Given the description of an element on the screen output the (x, y) to click on. 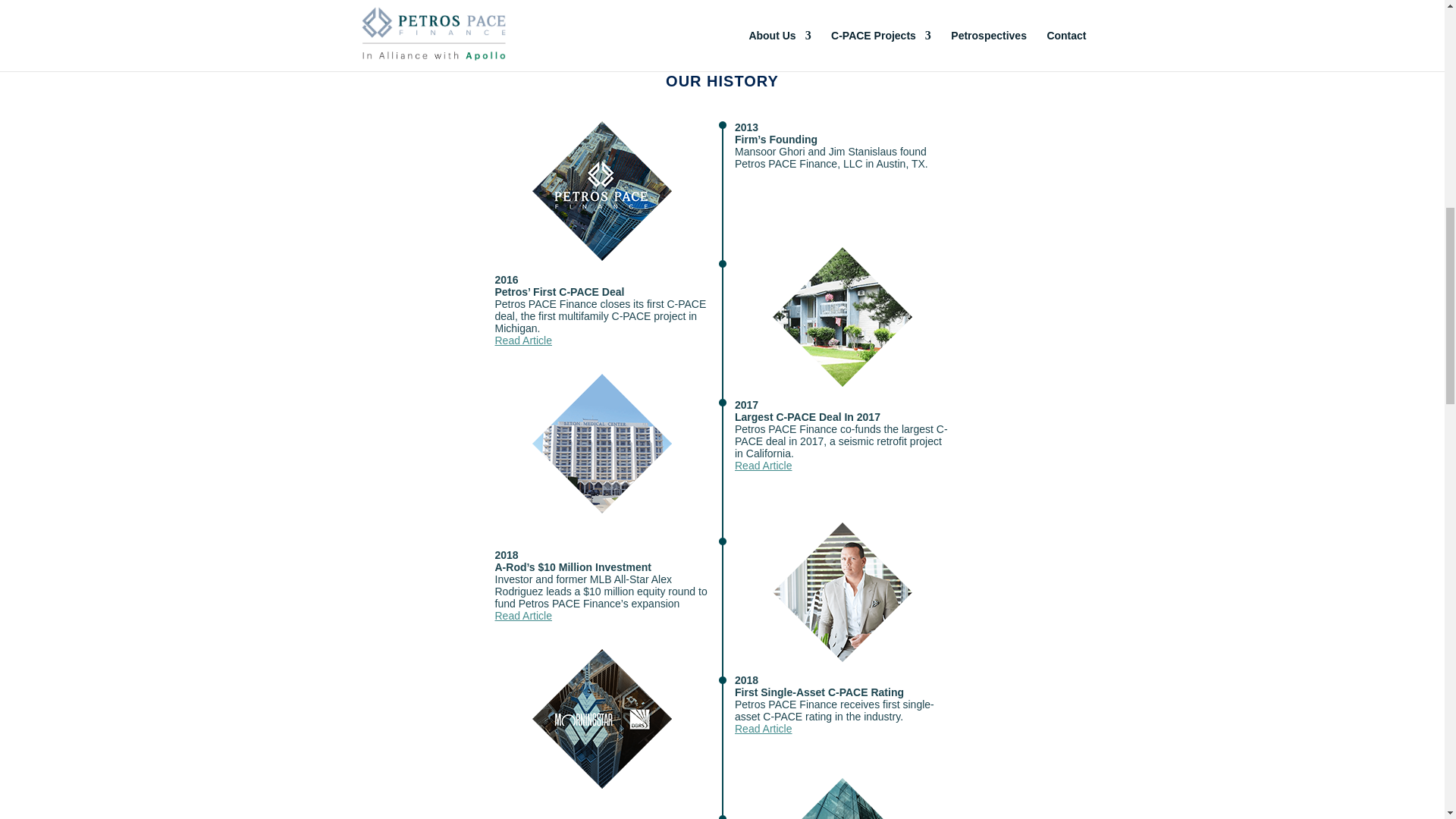
2018-CPACE-alliance (842, 798)
Read Article (763, 728)
2016-first-CPACE-deal (842, 316)
Read Article (763, 465)
2017-largest-deal (601, 443)
Read Article (523, 340)
2013-firms-founding (601, 191)
2018-AROD-deal (842, 591)
Read Article (523, 615)
2018 First Single-Asset C-PACE Rating (601, 718)
